Given the description of an element on the screen output the (x, y) to click on. 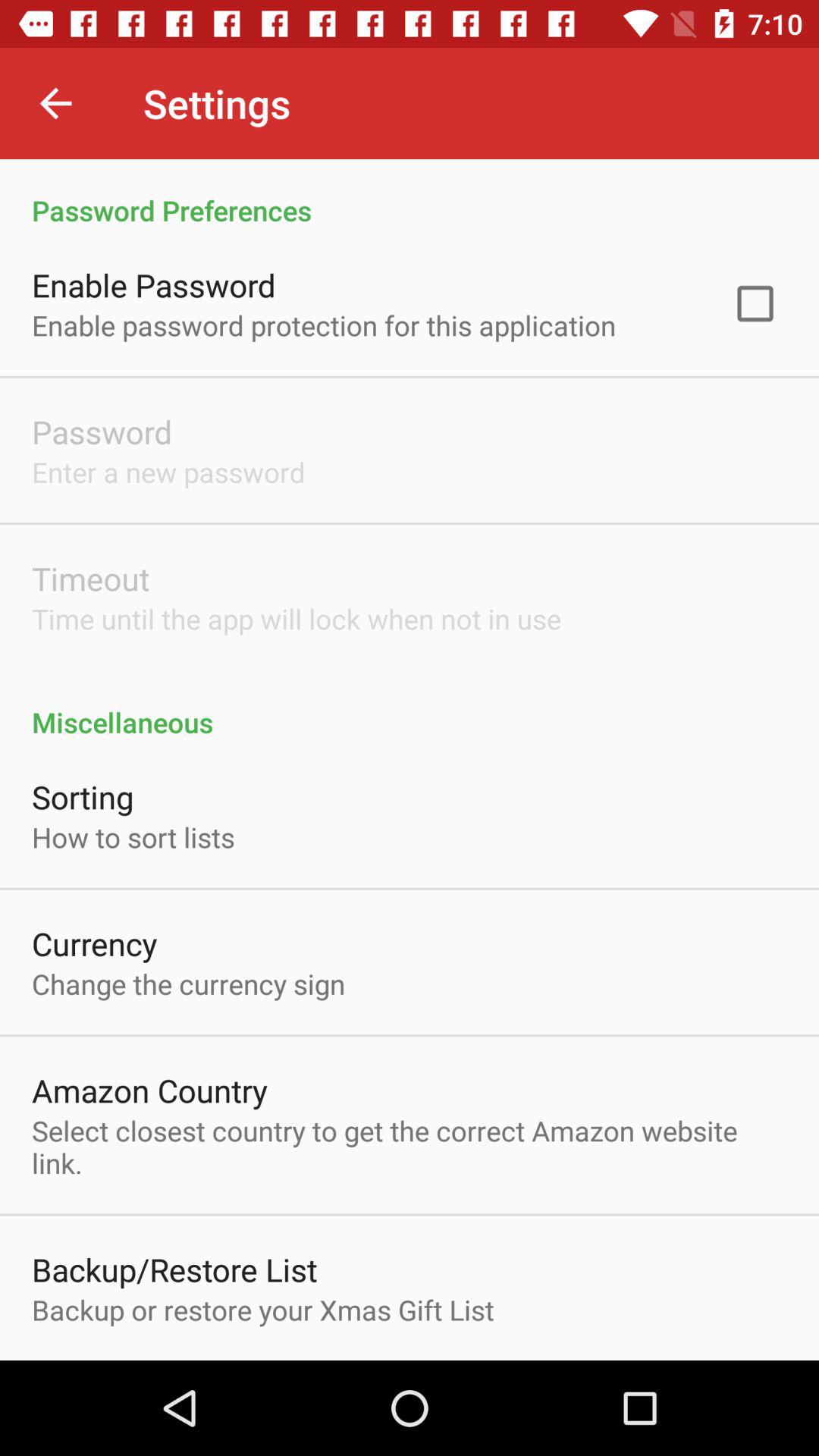
turn off the item below currency icon (188, 983)
